Given the description of an element on the screen output the (x, y) to click on. 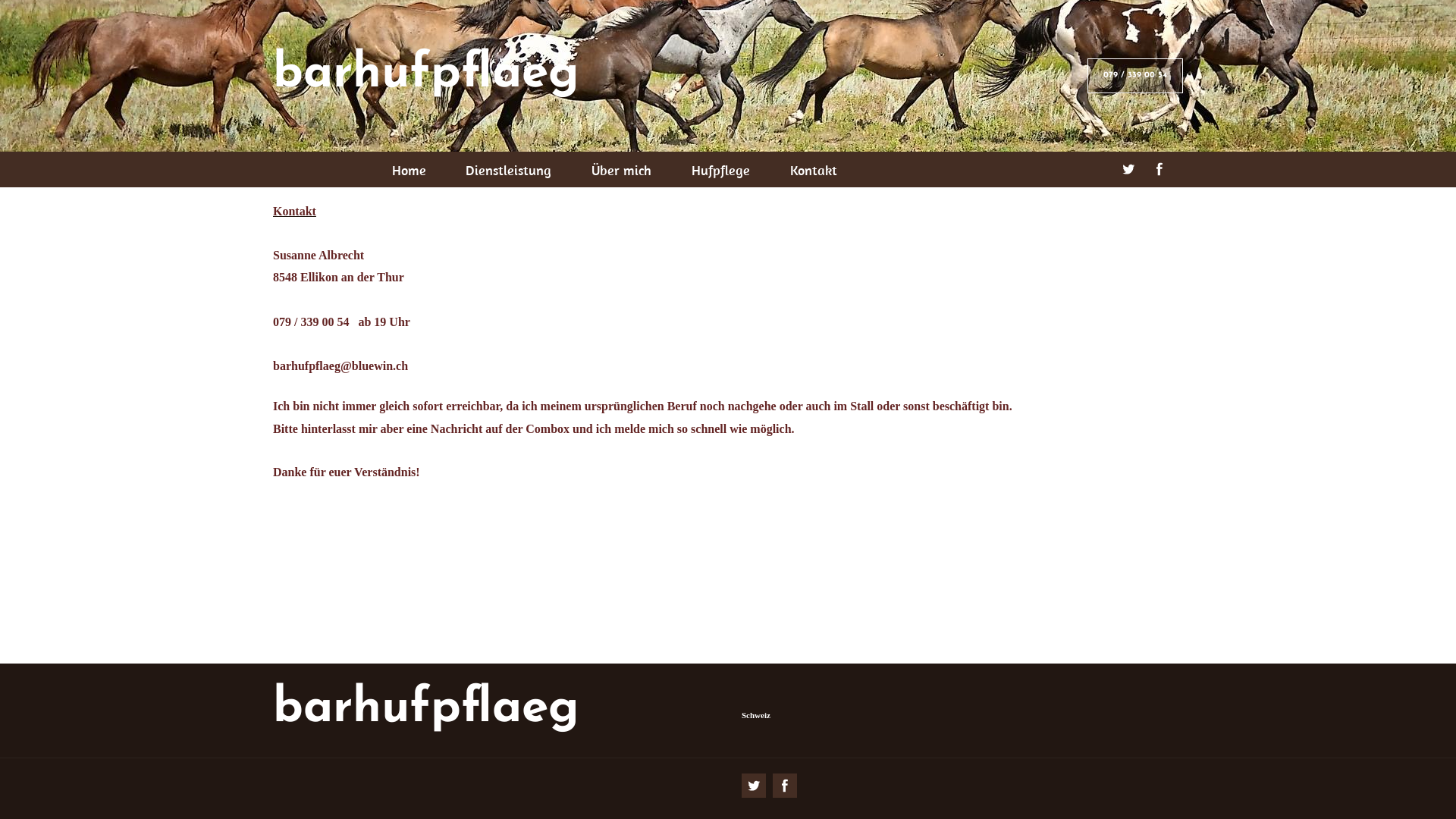
Twitter Element type: text (1128, 168)
Hufpflege Element type: text (720, 169)
Facebook Element type: text (1159, 168)
Home Element type: text (409, 169)
barhufpflaeg Element type: text (426, 74)
Facebook Element type: text (784, 785)
Kontakt Element type: text (812, 169)
barhufpflaeg Element type: text (426, 708)
Dienstleistung Element type: text (508, 169)
Twitter Element type: text (753, 785)
